Given the description of an element on the screen output the (x, y) to click on. 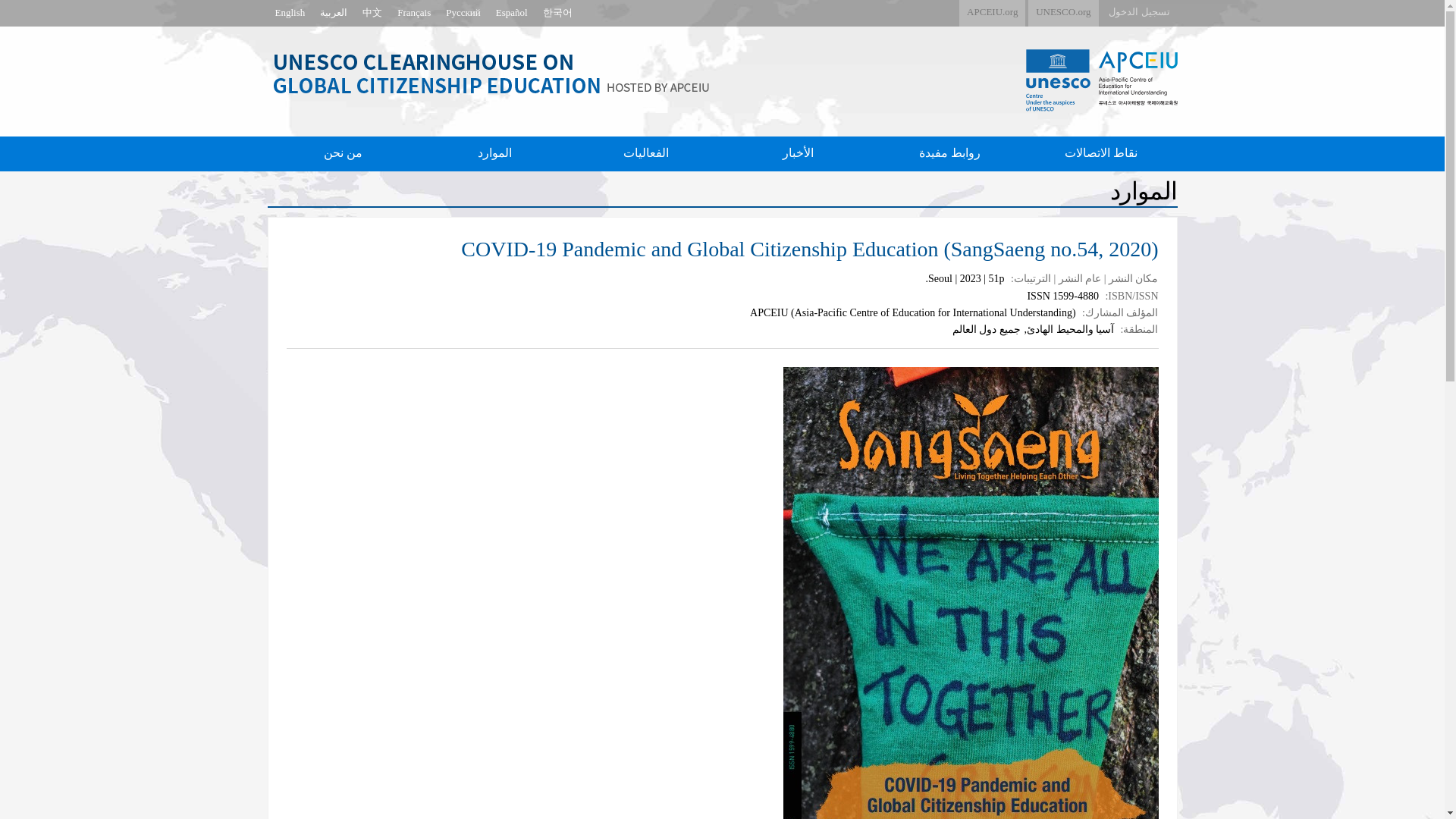
Chinese, Simplified (372, 13)
Korean (557, 13)
French (414, 13)
APCEIU.org (992, 13)
English (289, 13)
English (289, 13)
Russian (462, 13)
Arabic (334, 13)
Spanish (511, 13)
UNESCO.org (1062, 13)
